Given the description of an element on the screen output the (x, y) to click on. 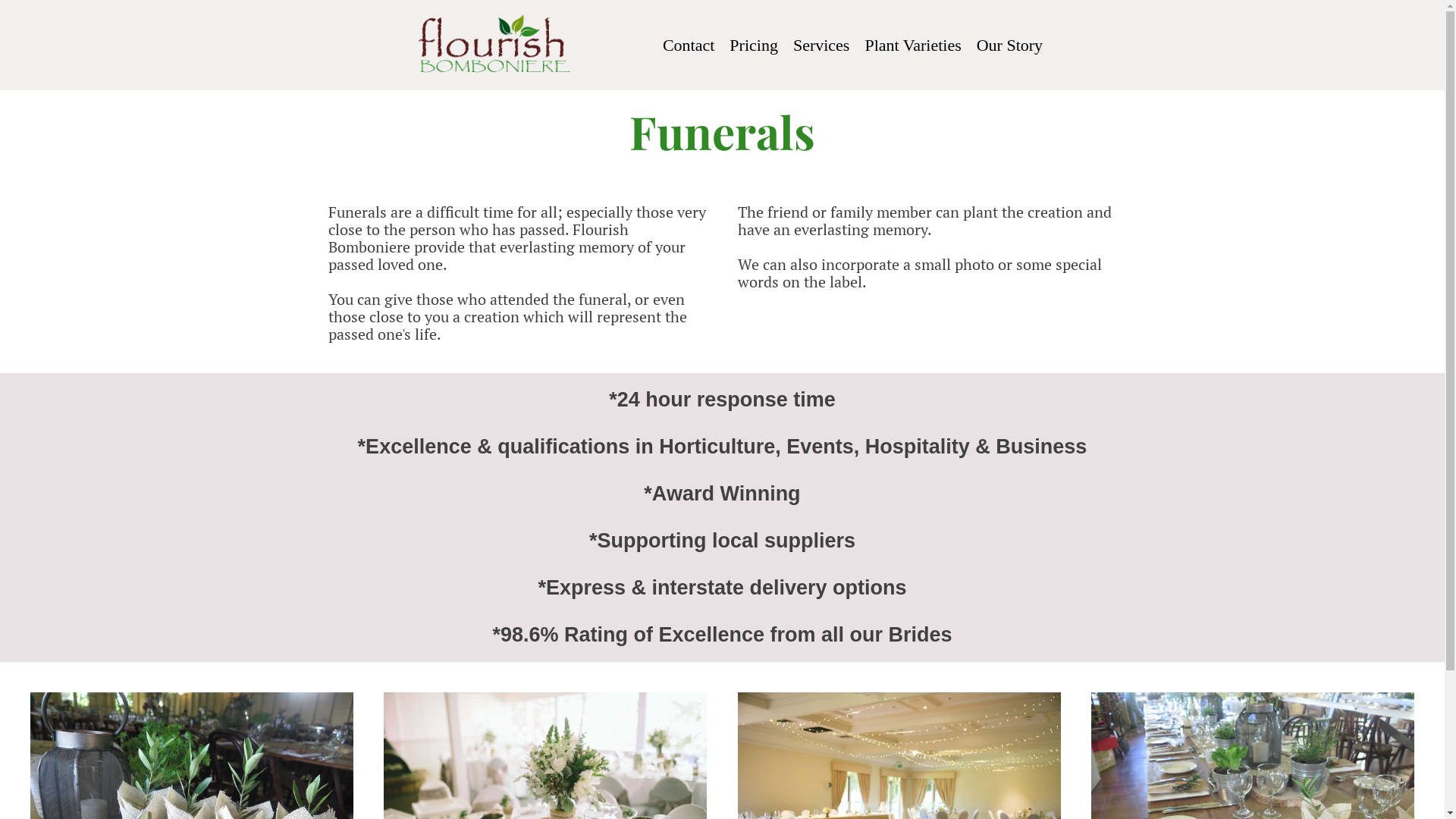
Services Element type: text (821, 44)
Plant Varieties Element type: text (912, 44)
Pricing Element type: text (753, 44)
Our Story Element type: text (1009, 44)
Contact Element type: text (688, 44)
